Given the description of an element on the screen output the (x, y) to click on. 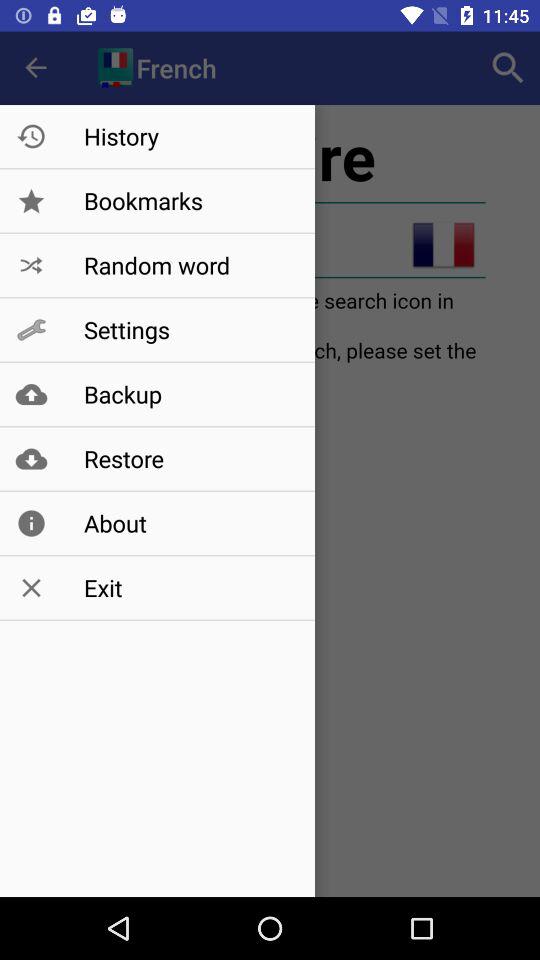
select backup icon (188, 394)
